Given the description of an element on the screen output the (x, y) to click on. 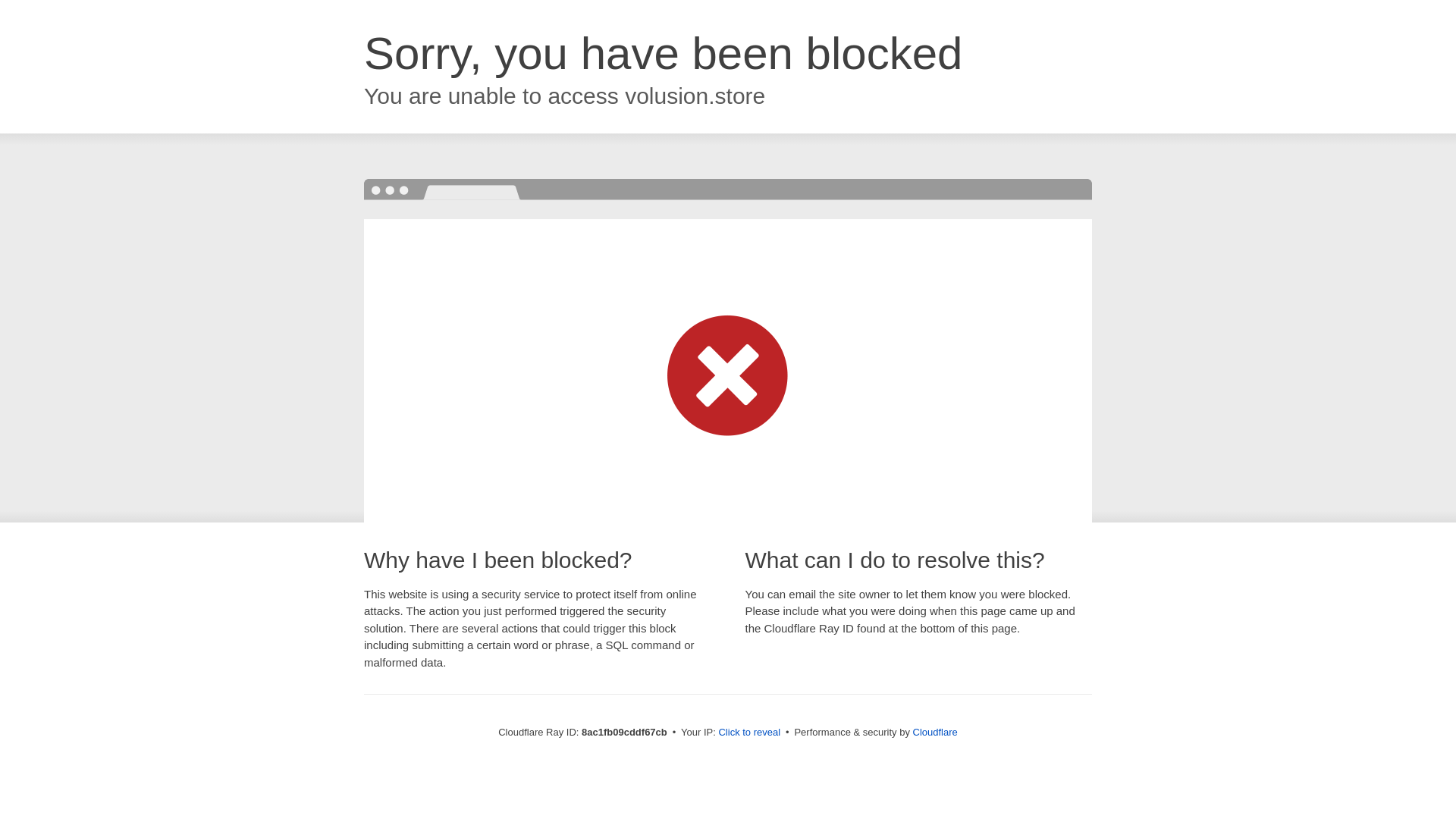
Cloudflare (935, 731)
Click to reveal (748, 732)
